Given the description of an element on the screen output the (x, y) to click on. 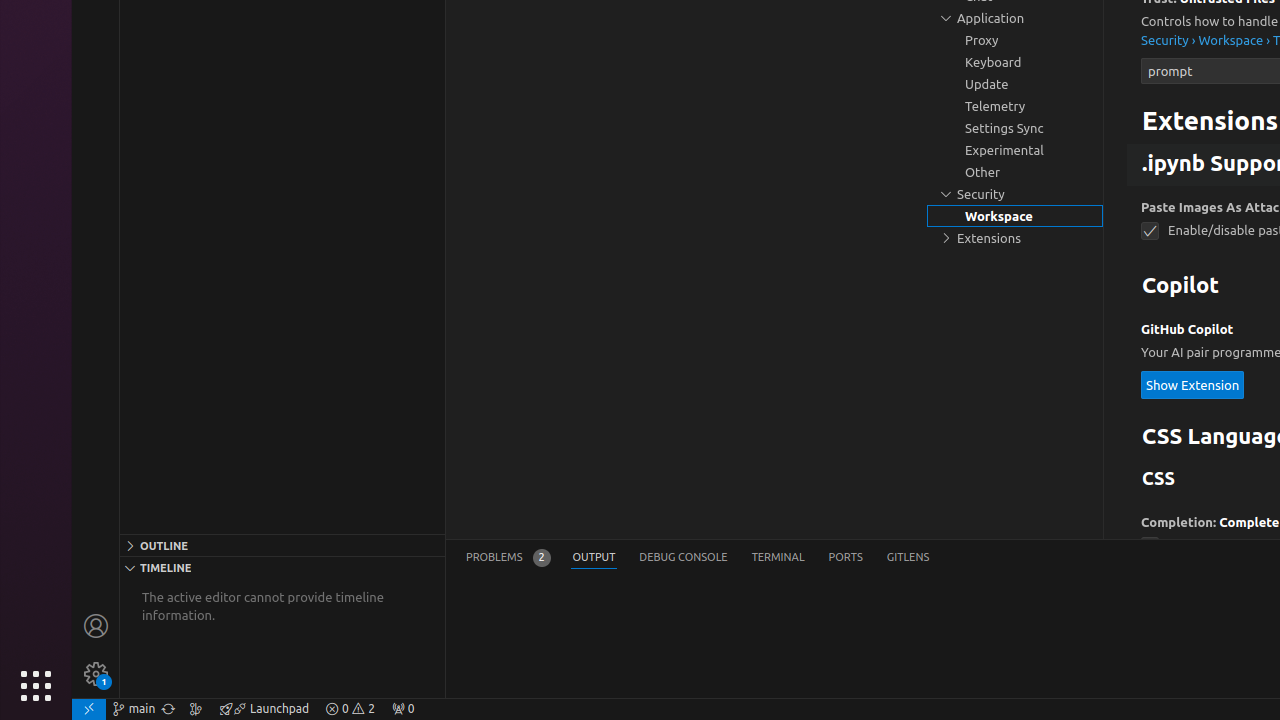
More Actions... (Shift+F9) Element type: push-button (1116, 520)
OSWorld (Git) - Synchronize Changes Element type: push-button (168, 709)
Accounts Element type: push-button (96, 626)
GitLens Element type: page-tab (908, 557)
Show Extension Element type: push-button (1193, 384)
